Given the description of an element on the screen output the (x, y) to click on. 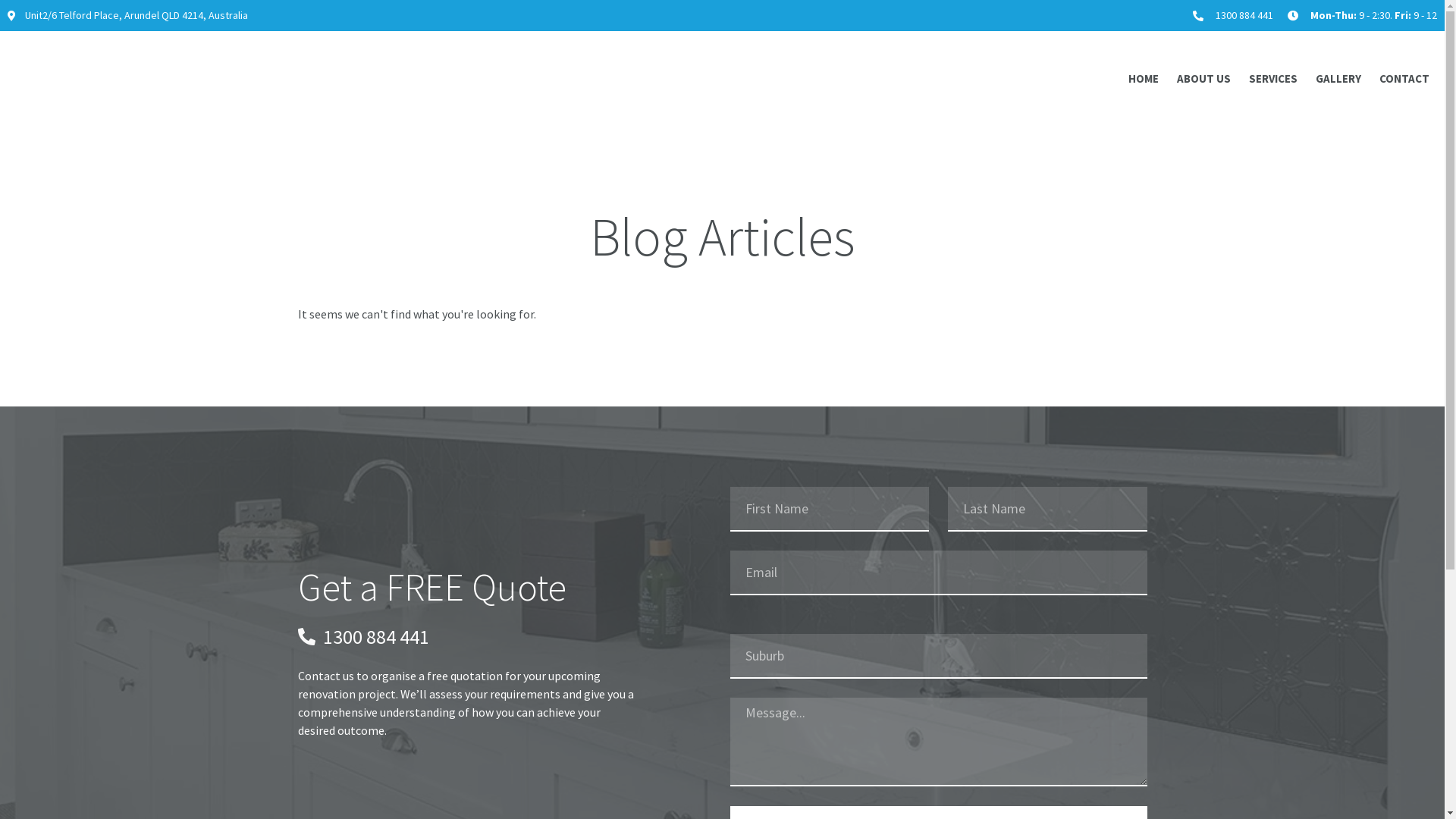
1300 884 441 Element type: text (1231, 15)
ABOUT US Element type: text (1203, 78)
Unit2/6 Telford Place, Arundel QLD 4214, Australia Element type: text (127, 15)
Mon-Thu: 9 - 2:30. Fri: 9 - 12 Element type: text (1360, 15)
GALLERY Element type: text (1338, 78)
HOME Element type: text (1143, 78)
1300 884 441 Element type: text (467, 636)
CONTACT Element type: text (1404, 78)
SERVICES Element type: text (1272, 78)
